Given the description of an element on the screen output the (x, y) to click on. 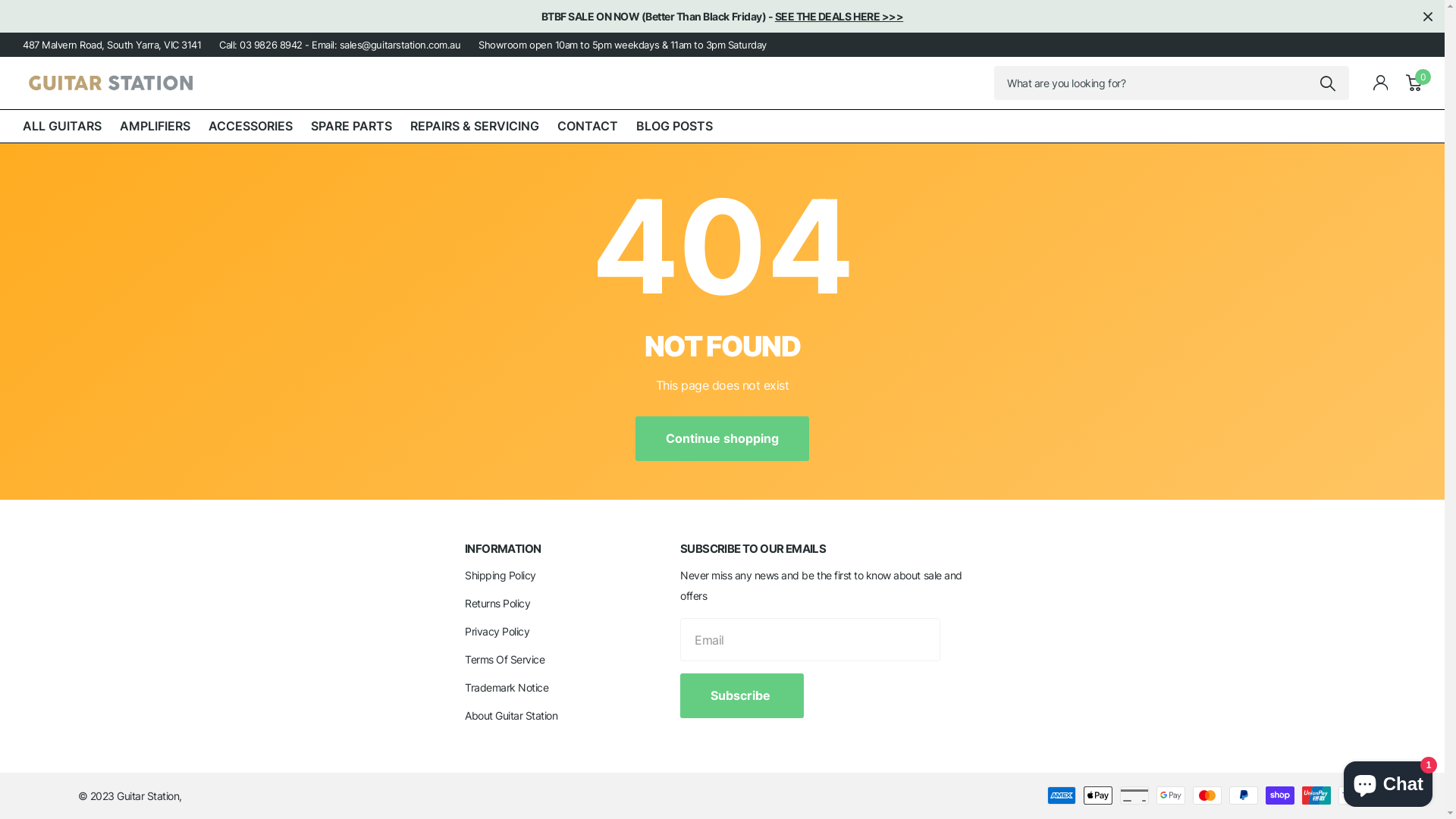
Close Element type: text (1427, 16)
BLOG POSTS Element type: text (674, 126)
ACCESSORIES Element type: text (250, 126)
REPAIRS & SERVICING Element type: text (474, 126)
Returns Policy Element type: text (497, 602)
Terms Of Service Element type: text (504, 658)
Trademark Notice Element type: text (506, 686)
Privacy Policy Element type: text (496, 630)
Zoeken Element type: text (1328, 82)
Subscribe  Element type: text (741, 695)
0 Element type: text (1413, 83)
Shopify online store chat Element type: hover (1388, 780)
SEE THE DEALS HERE >>> Element type: text (839, 15)
SPARE PARTS Element type: text (351, 126)
Shipping Policy Element type: text (500, 574)
AMPLIFIERS Element type: text (154, 126)
CONTACT Element type: text (587, 126)
INFORMATION Element type: text (502, 548)
Continue shopping Element type: text (722, 438)
ALL GUITARS Element type: text (61, 126)
About Guitar Station Element type: text (510, 715)
